Given the description of an element on the screen output the (x, y) to click on. 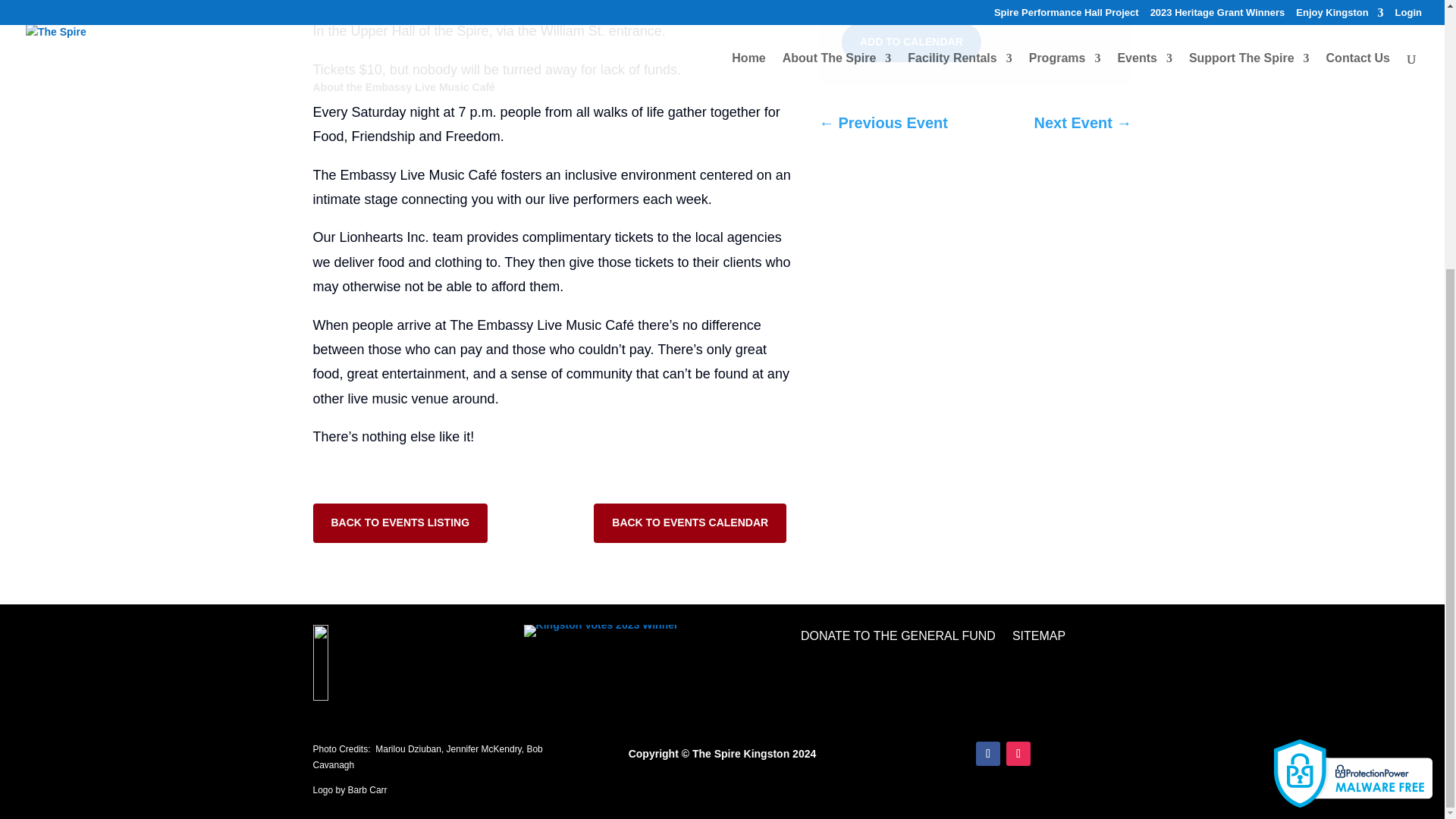
Kingston Votes 2023 Winner (601, 630)
Follow on Facebook (987, 753)
Follow on Instagram (1018, 753)
